Given the description of an element on the screen output the (x, y) to click on. 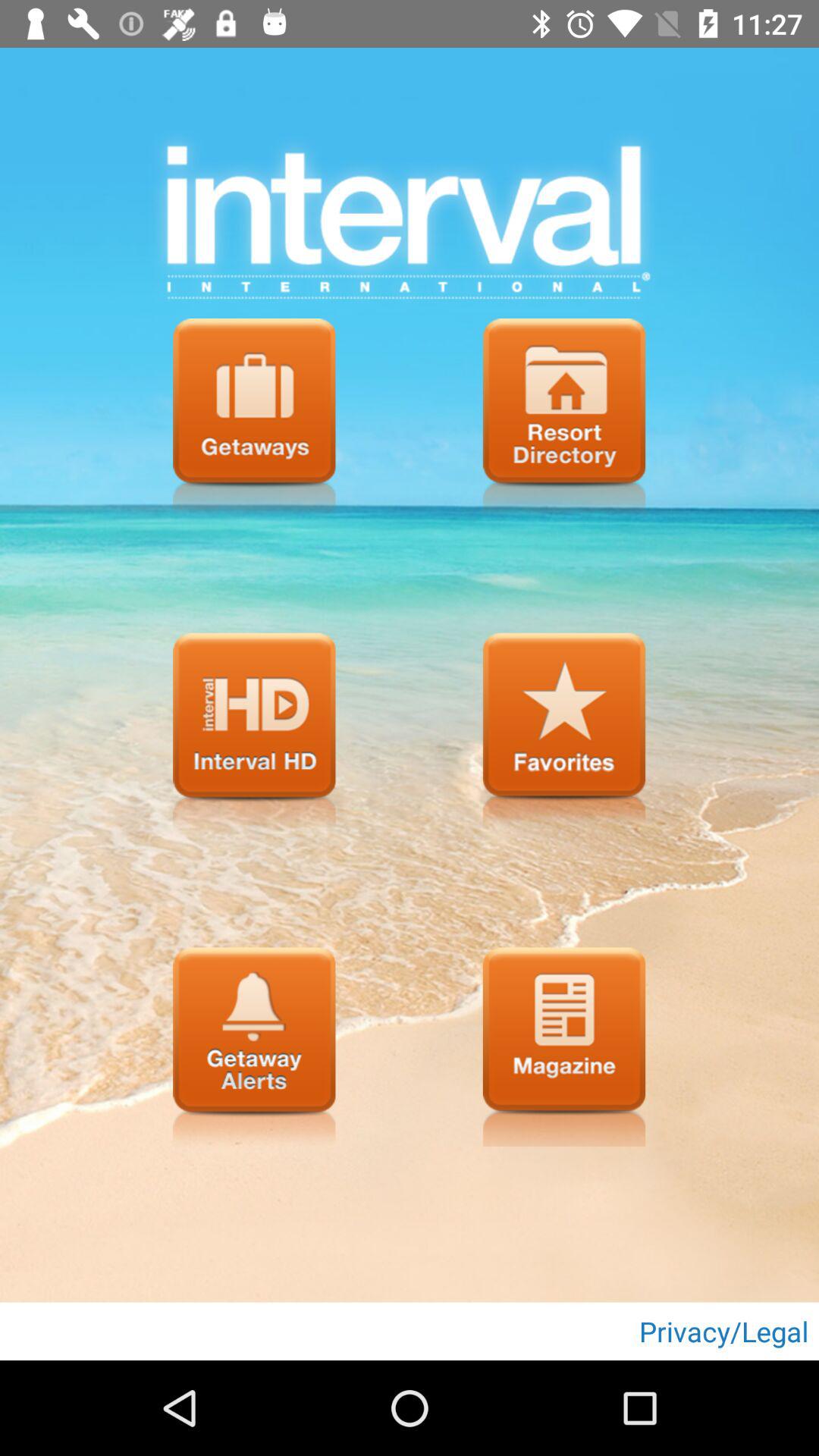
menu button (563, 732)
